Given the description of an element on the screen output the (x, y) to click on. 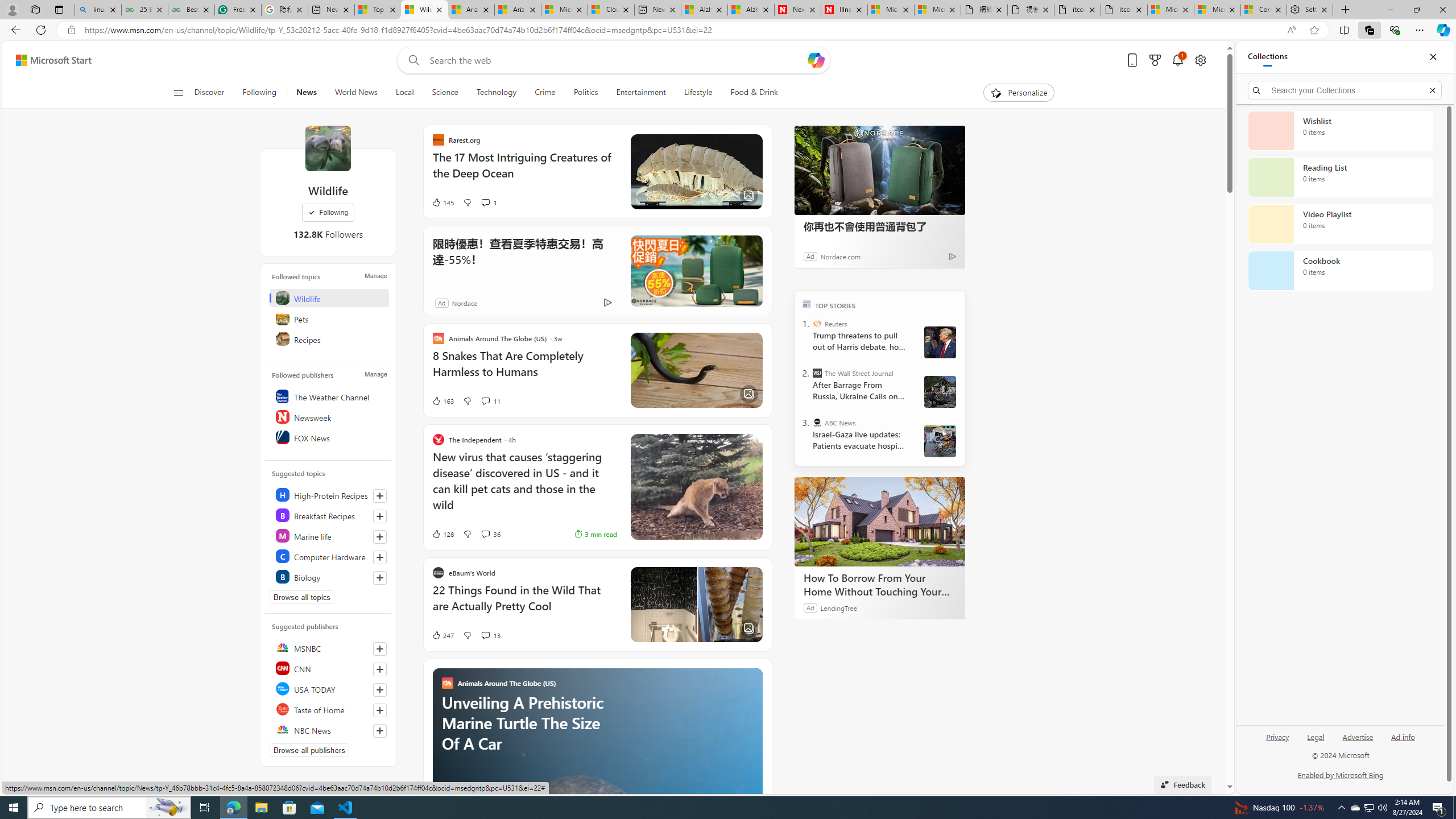
TOP (806, 302)
Exit search (1432, 90)
Recipes (328, 339)
247 Like (442, 635)
Cloud Computing Services | Microsoft Azure (610, 9)
View comments 11 Comment (485, 400)
